Given the description of an element on the screen output the (x, y) to click on. 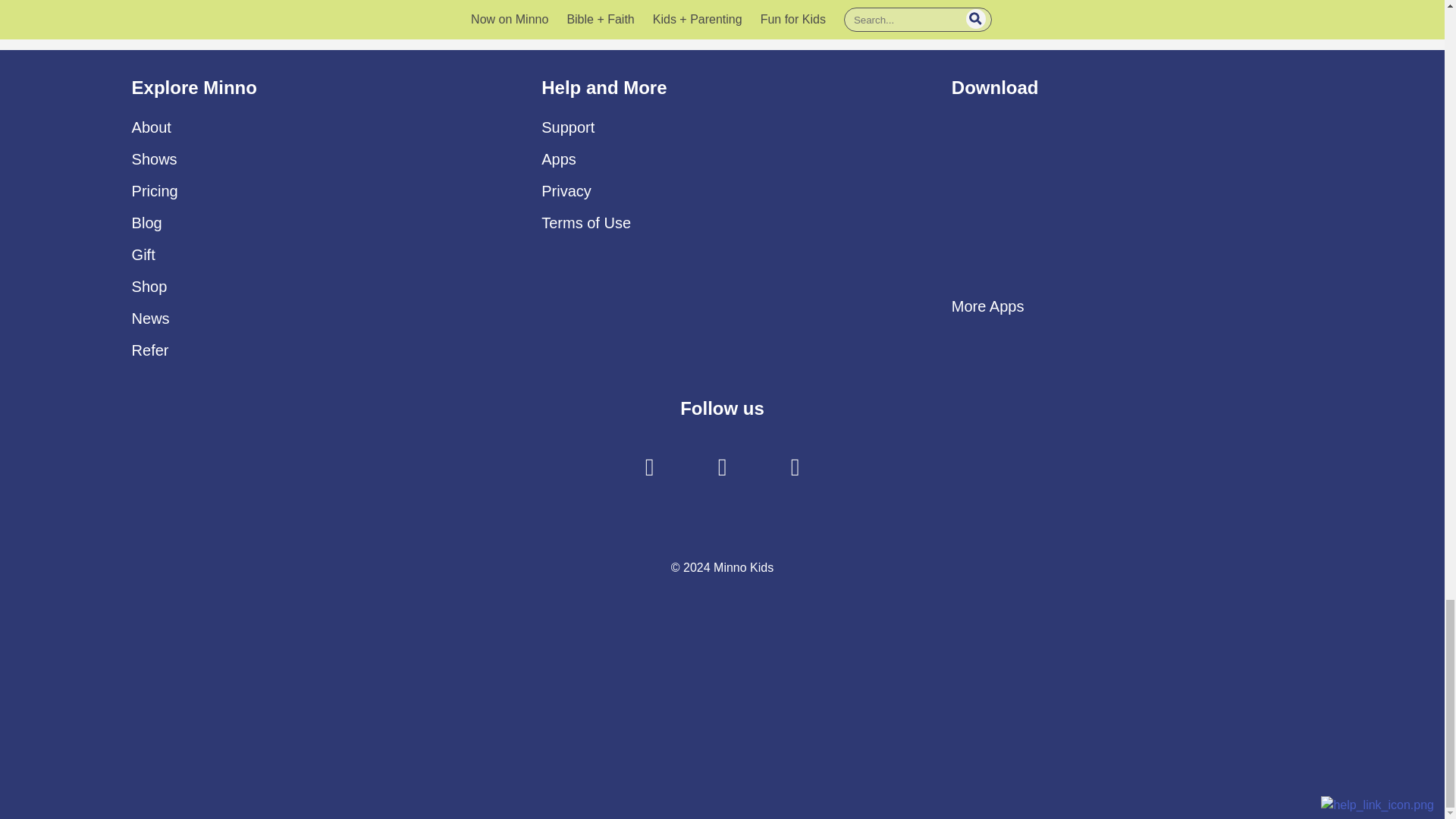
Support (567, 126)
Pricing (154, 190)
About (151, 126)
Apps (558, 158)
Terms of Use (585, 222)
Privacy (566, 190)
News (151, 318)
Blog (146, 222)
Refer (150, 350)
Shop (149, 286)
